Given the description of an element on the screen output the (x, y) to click on. 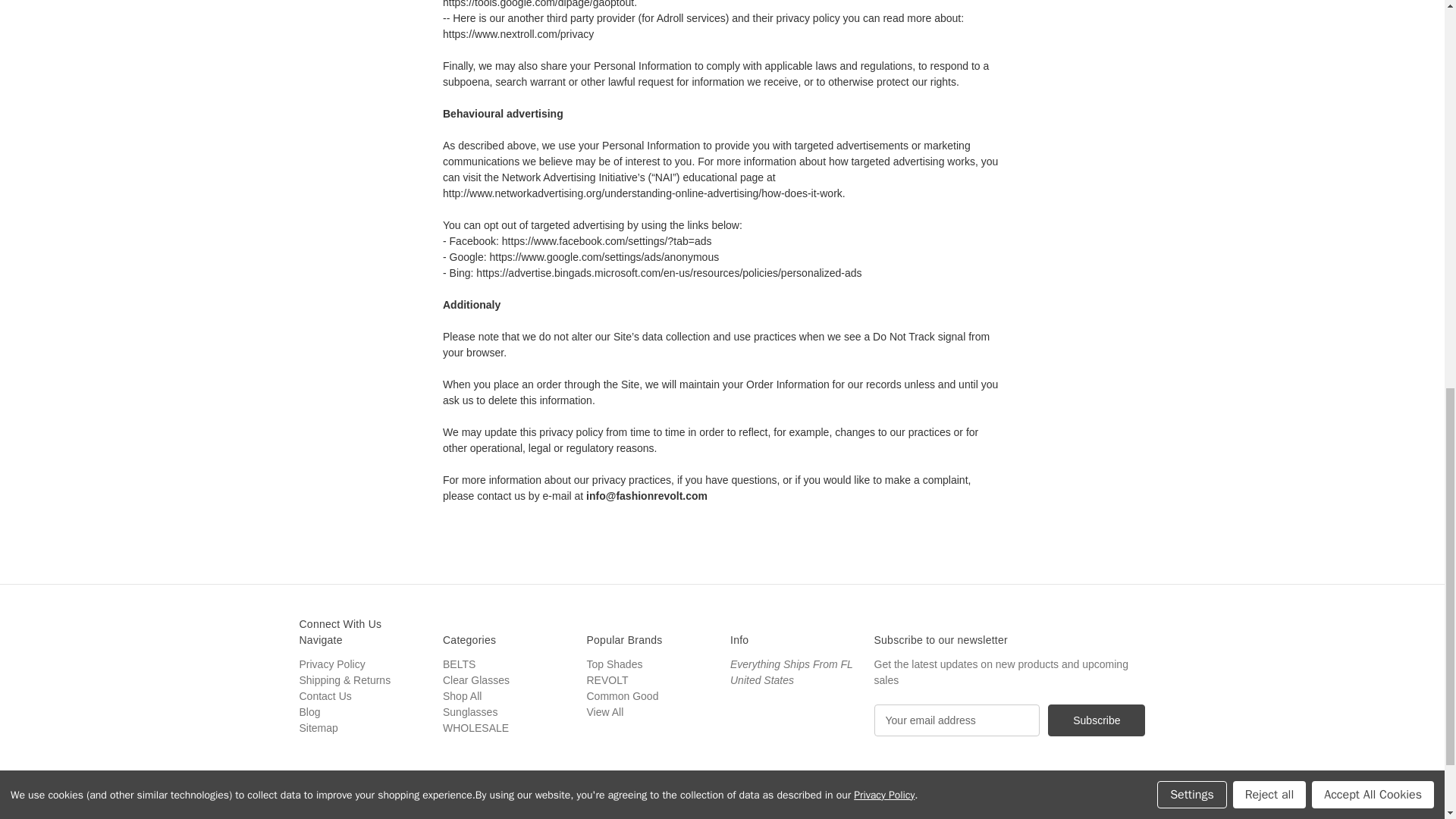
Subscribe (1096, 720)
PayPal (1032, 806)
American Express (896, 806)
Discover (941, 806)
Visa (1078, 806)
Mastercard (987, 806)
